Given the description of an element on the screen output the (x, y) to click on. 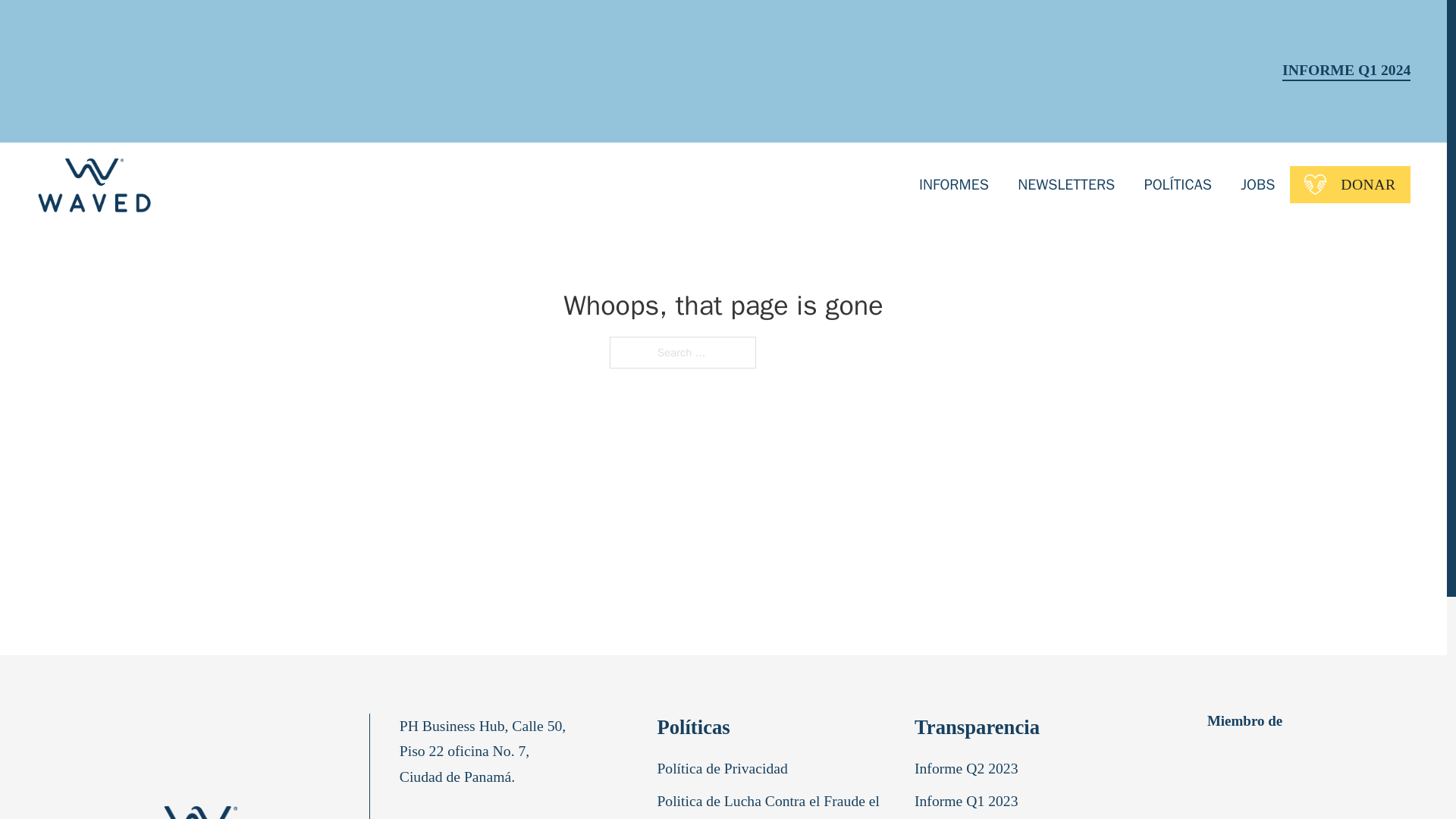
NEWSLETTERS (1066, 184)
DONAR (1350, 184)
JOBS (1257, 184)
Informe Q2 2023 (969, 771)
INFORME Q1 2024 (1346, 71)
INFORMES (953, 184)
Informe Q1 2023 (969, 803)
